Given the description of an element on the screen output the (x, y) to click on. 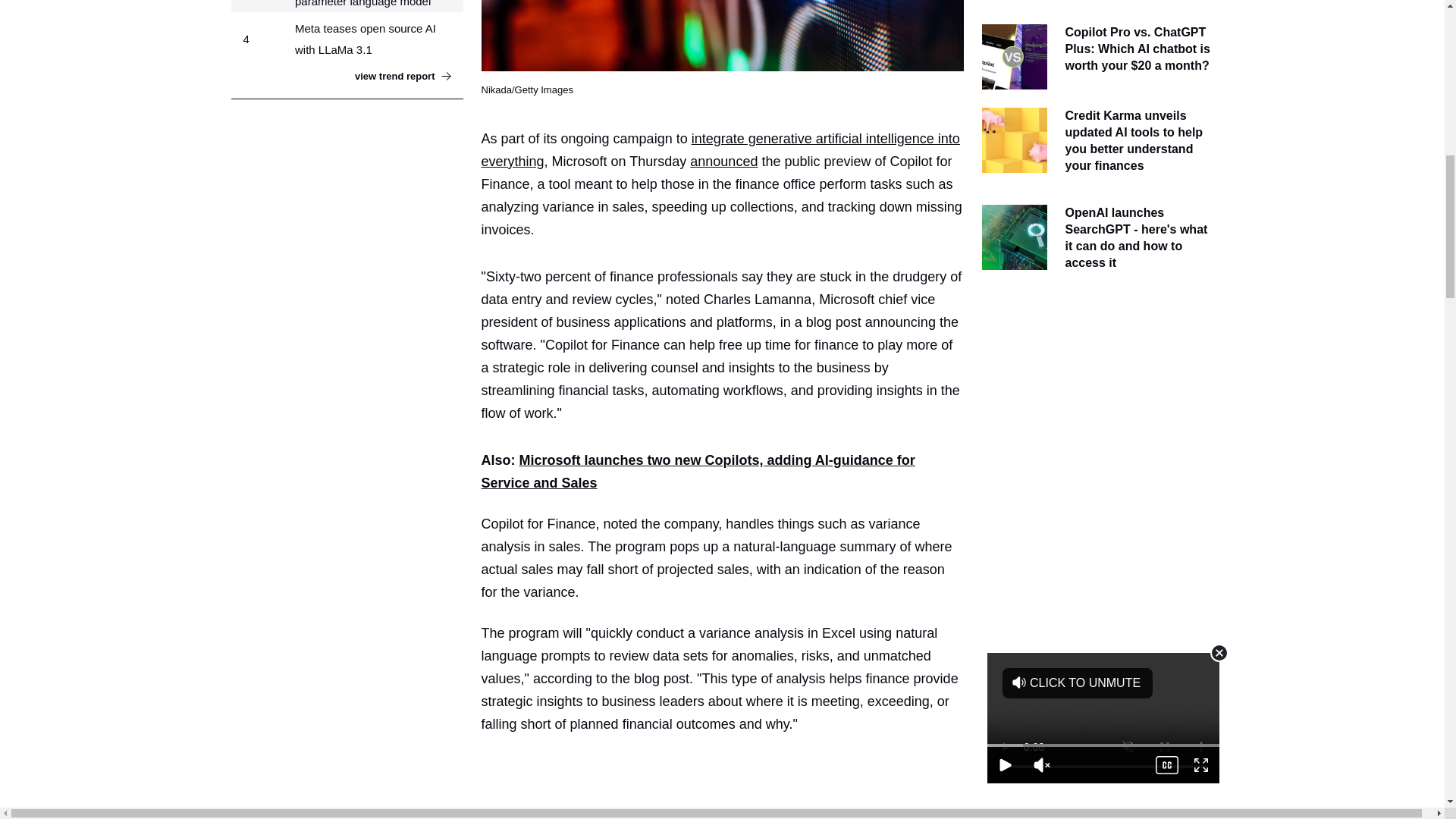
3rd party ad content (727, 789)
